Given the description of an element on the screen output the (x, y) to click on. 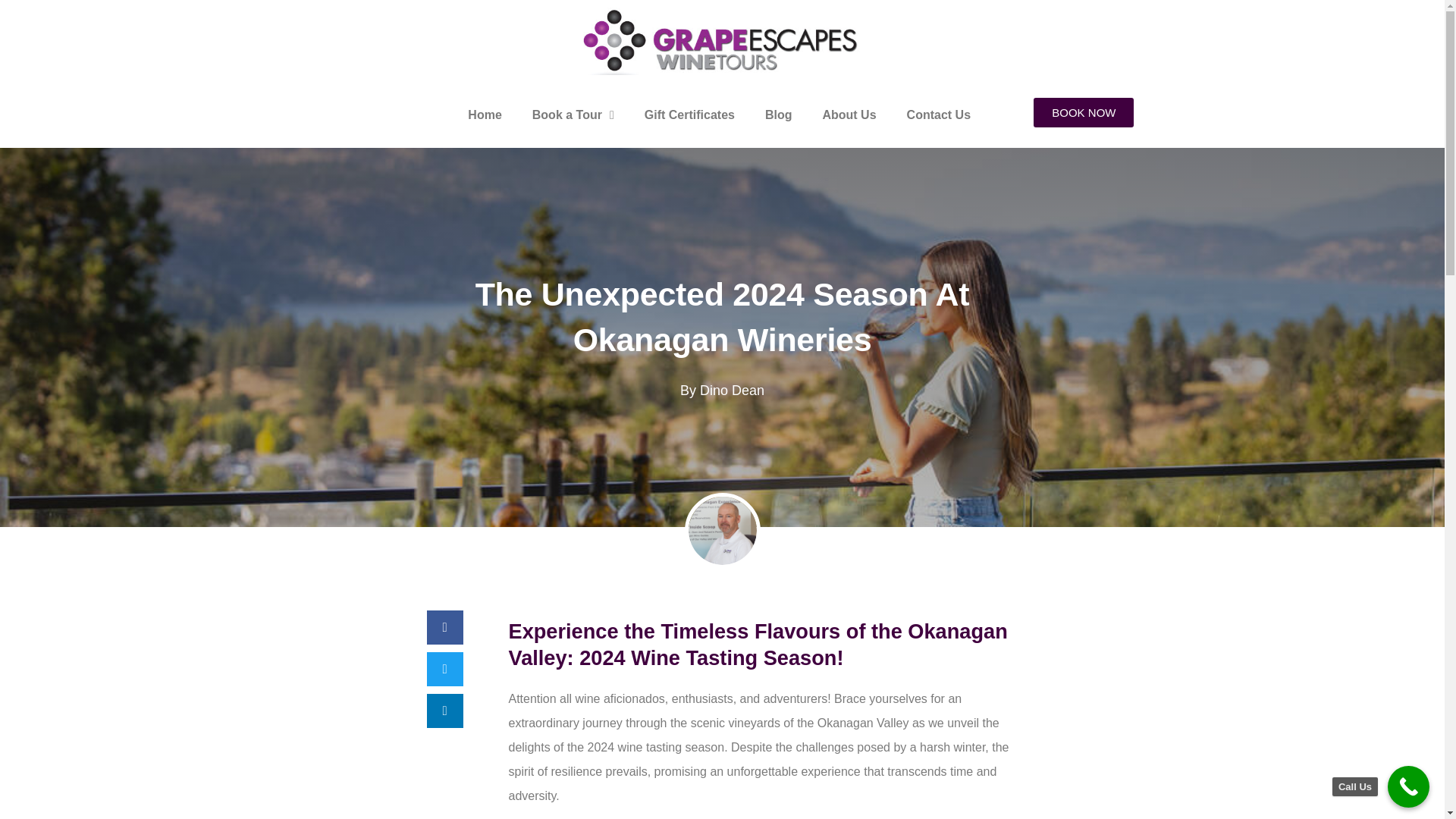
BOOK NOW (1083, 112)
About Us (848, 114)
Contact Us (938, 114)
Book a Tour (572, 114)
Gift Certificates (688, 114)
Blog (778, 114)
Home (484, 114)
logo.jpg (721, 41)
